Given the description of an element on the screen output the (x, y) to click on. 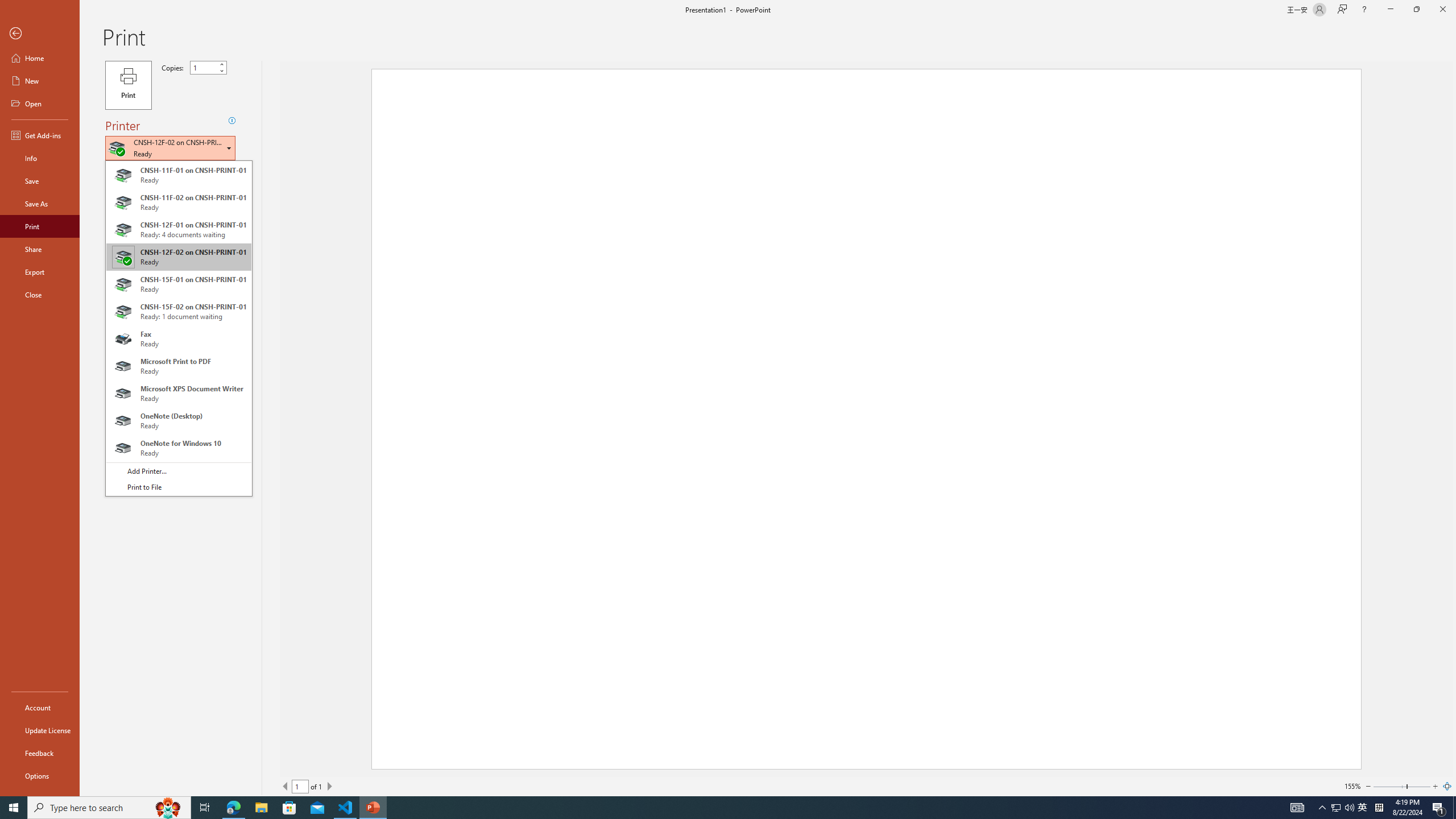
Next Page (328, 786)
